Given the description of an element on the screen output the (x, y) to click on. 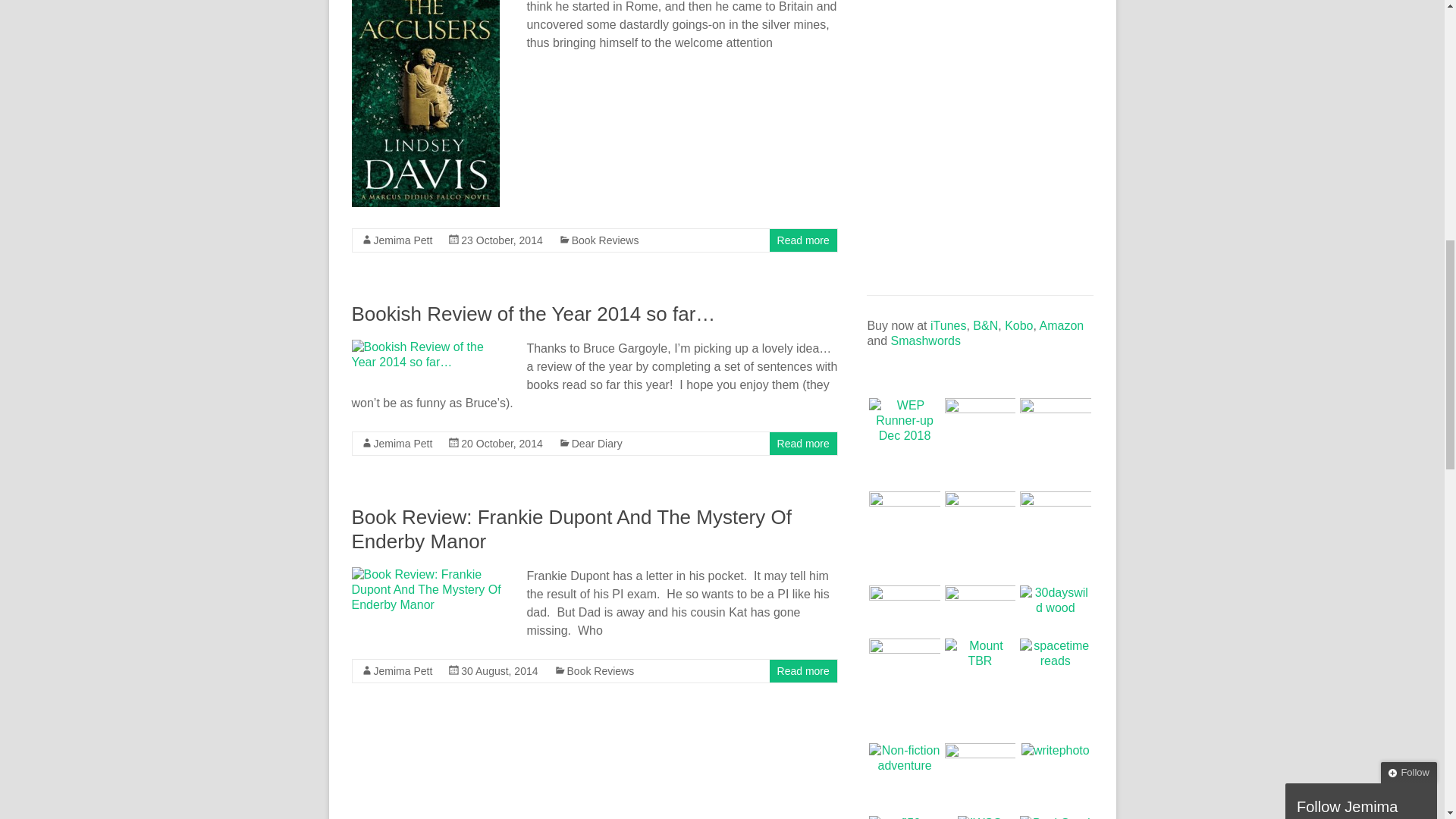
Email Address (1358, 119)
Sign me up! (1345, 171)
